Given the description of an element on the screen output the (x, y) to click on. 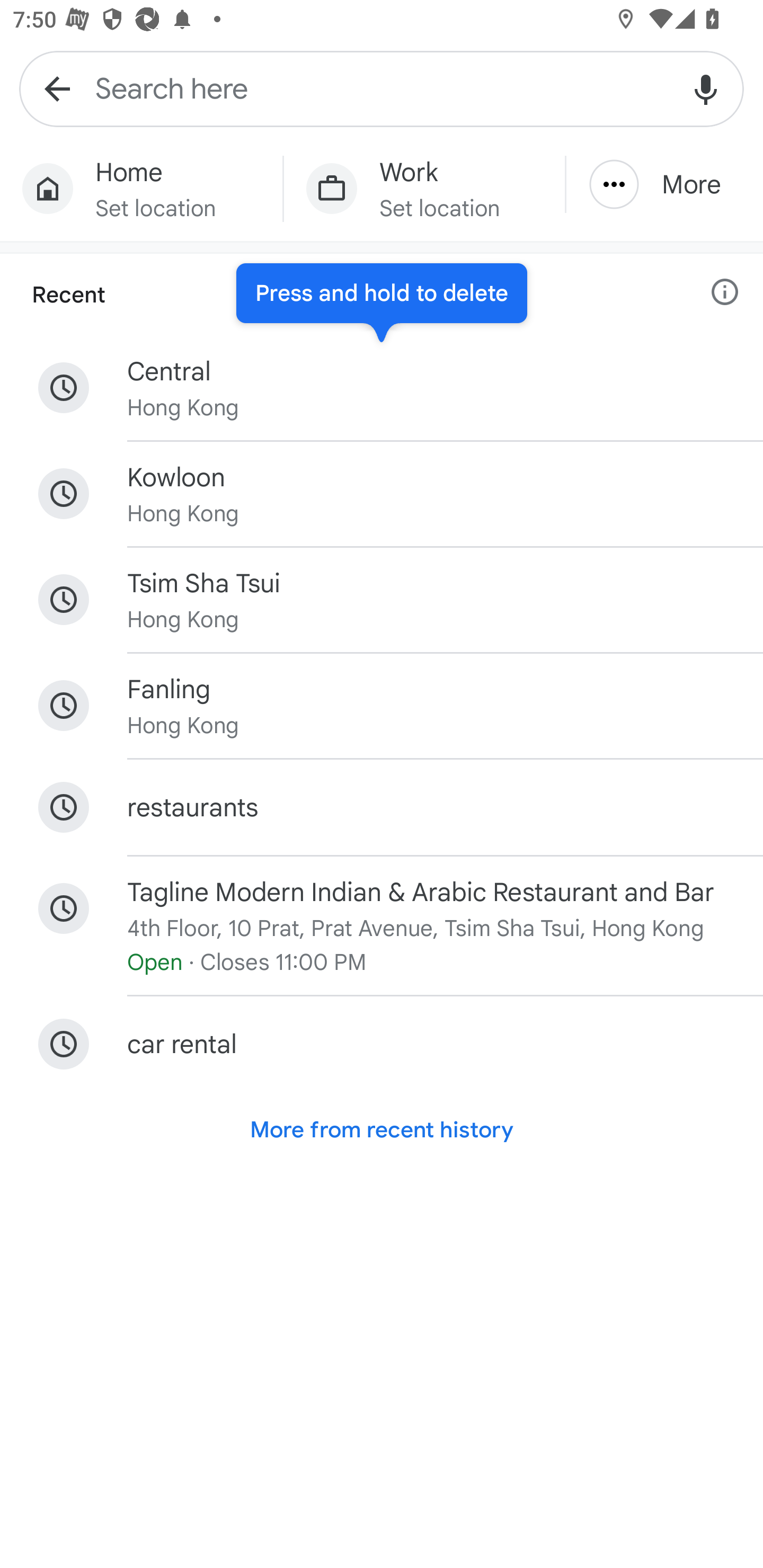
Navigate up (57, 88)
Search here (381, 88)
Voice search (705, 88)
Home Set location (141, 188)
Work Set location (423, 188)
More (664, 184)
Central Hong Kong (381, 387)
Kowloon Hong Kong (381, 493)
Tsim Sha Tsui Hong Kong (381, 599)
Fanling Hong Kong (381, 705)
restaurants (381, 806)
car rental (381, 1043)
More from recent history (381, 1129)
